Given the description of an element on the screen output the (x, y) to click on. 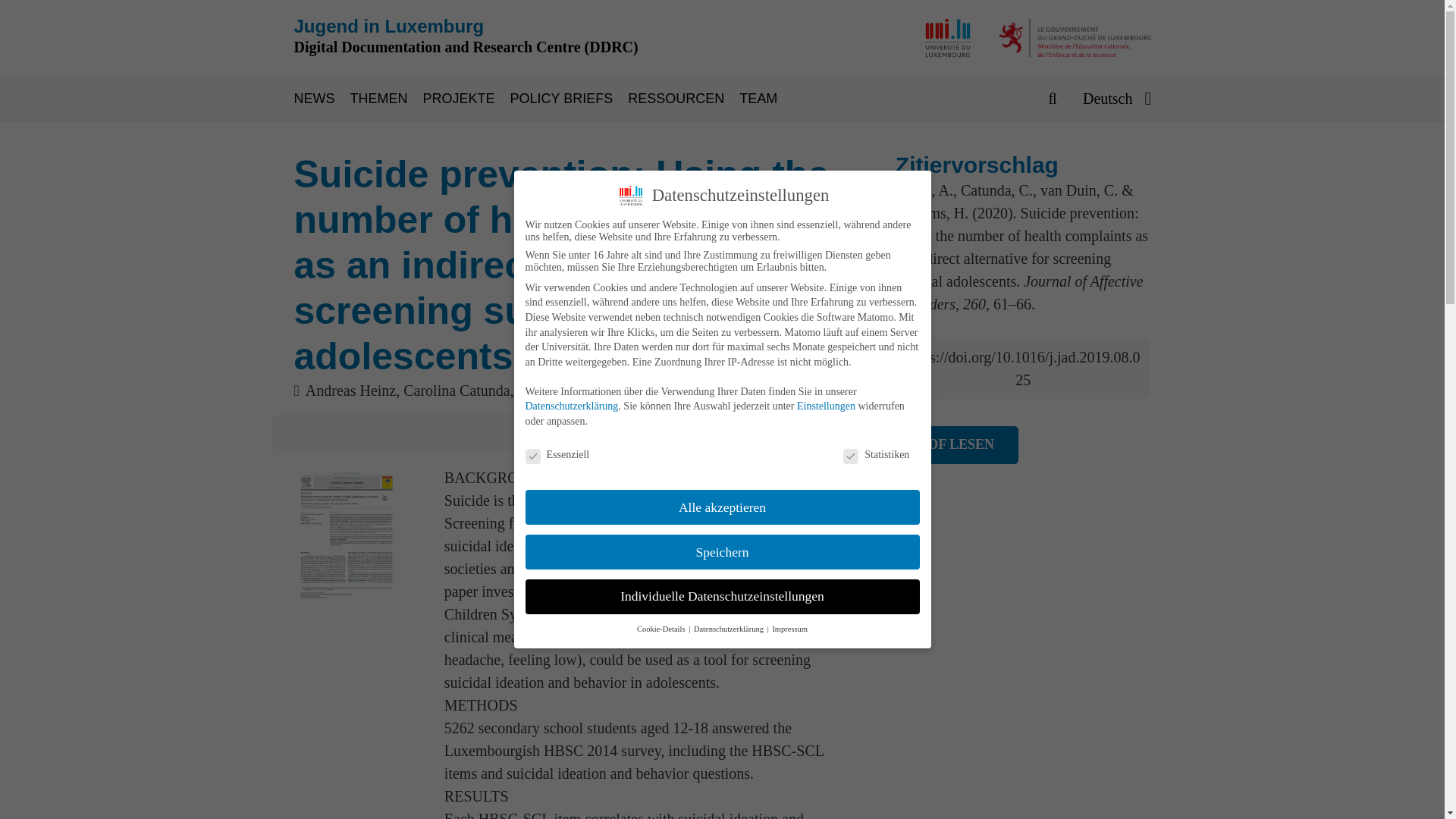
Carolina Catunda (457, 390)
RESSOURCEN (683, 98)
NEWS (322, 98)
TEAM (765, 98)
THEMEN (386, 98)
POLICY BRIEFS (569, 98)
Claire van Duin (566, 390)
Jugend in Luxemburg (389, 25)
Deutsch (1116, 98)
Andreas Heinz (350, 390)
